Given the description of an element on the screen output the (x, y) to click on. 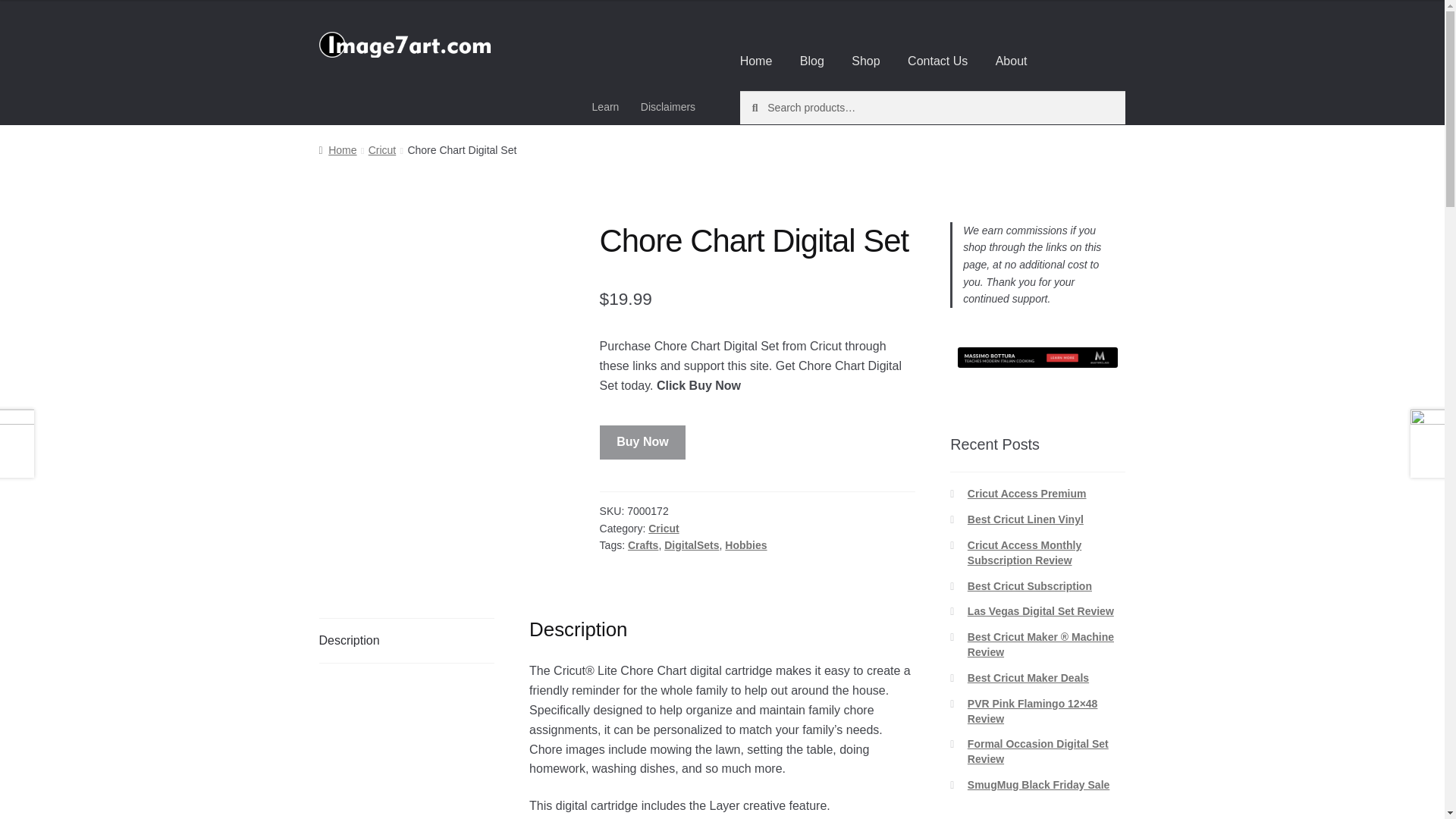
Buy Now (642, 442)
Home (337, 150)
Contact Us (937, 60)
Disclaimers (667, 106)
Crafts (642, 544)
About (1011, 60)
Cricut (662, 528)
Learn (604, 106)
Cricut (382, 150)
